Given the description of an element on the screen output the (x, y) to click on. 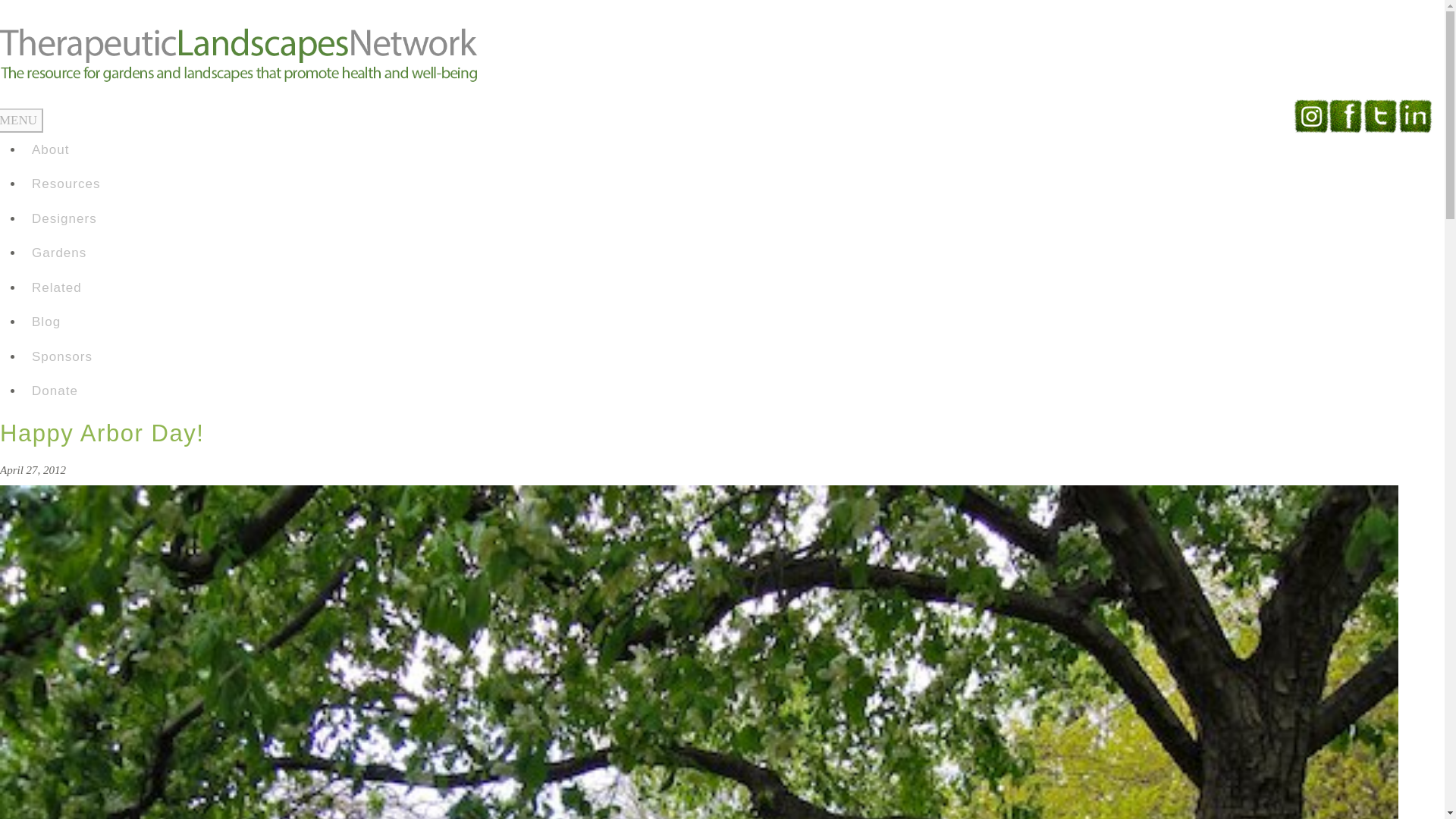
Resources (65, 184)
Blog (65, 321)
About (65, 149)
Designers (65, 218)
Twitter (1379, 115)
Linkedin (1414, 115)
Gardens (65, 253)
Related (65, 287)
Resources (65, 184)
Donate (65, 390)
Instagram (1310, 115)
Sponsors (65, 356)
About (65, 149)
MENU (21, 120)
Facebook (1344, 115)
